Given the description of an element on the screen output the (x, y) to click on. 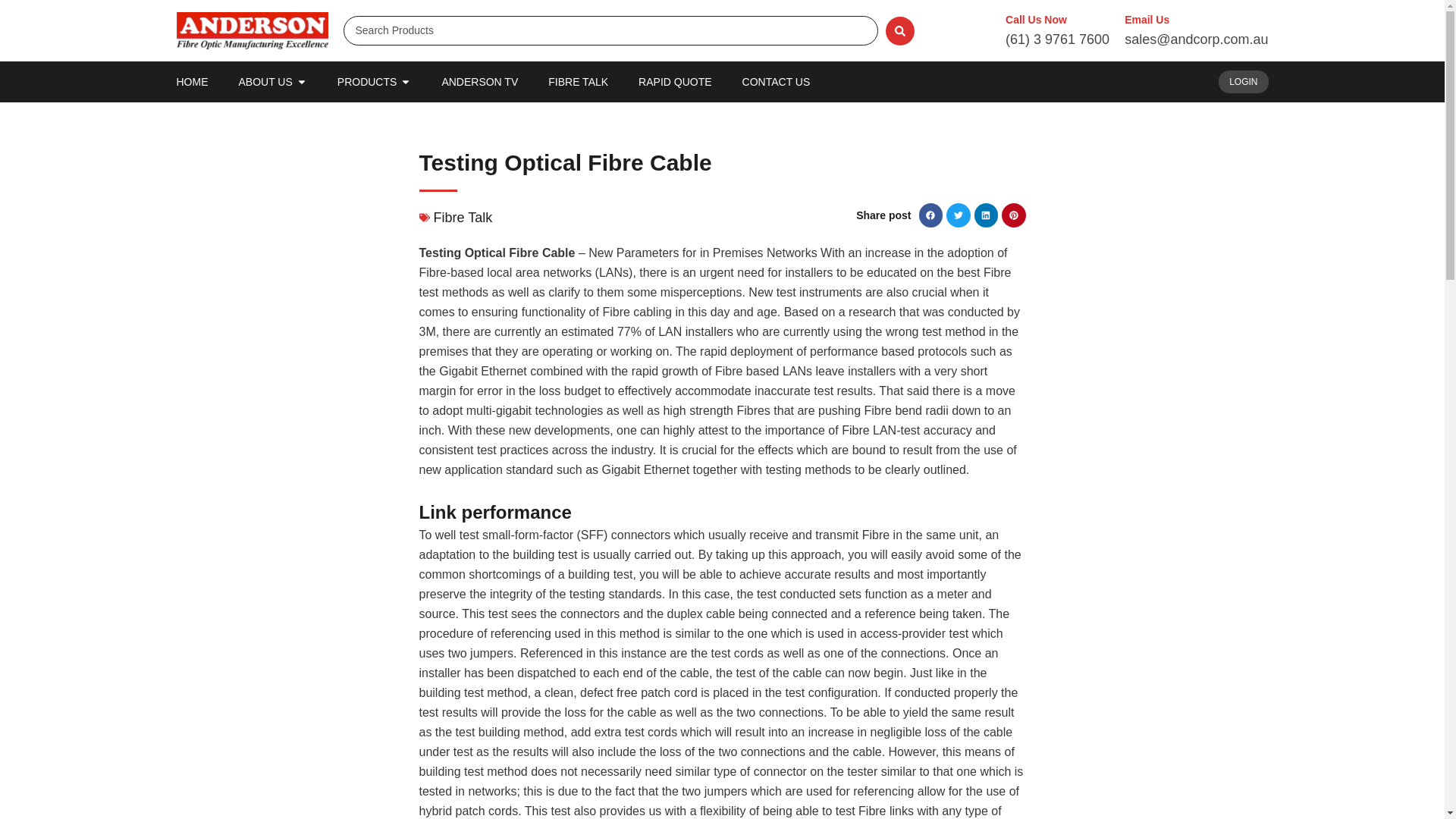
CONTACT US (776, 81)
FIBRE TALK (578, 81)
ABOUT US (265, 81)
RAPID QUOTE (675, 81)
PRODUCTS (367, 81)
HOME (192, 81)
ANDERSON TV (479, 81)
